Given the description of an element on the screen output the (x, y) to click on. 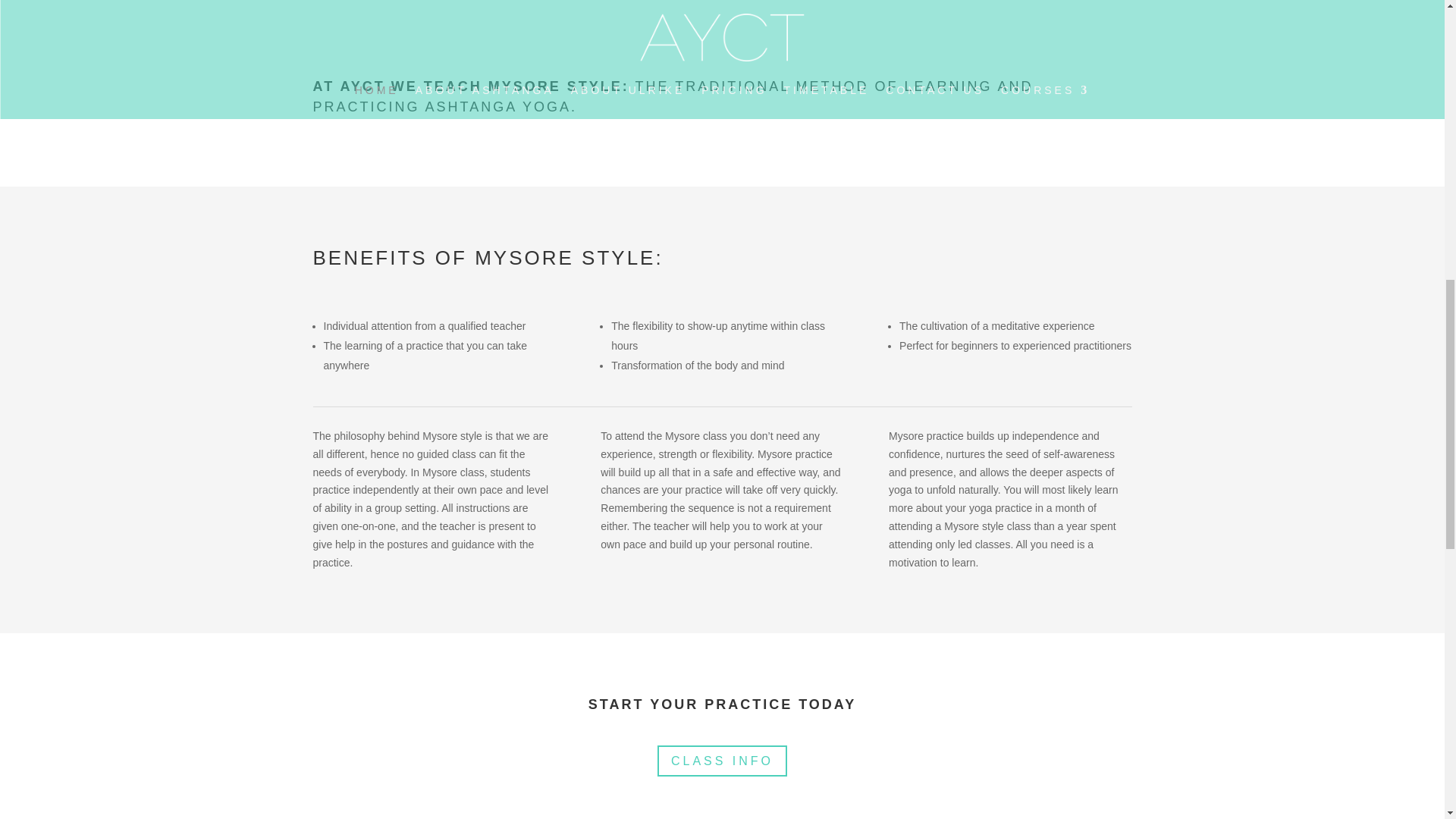
CLASS INFO (722, 760)
